Given the description of an element on the screen output the (x, y) to click on. 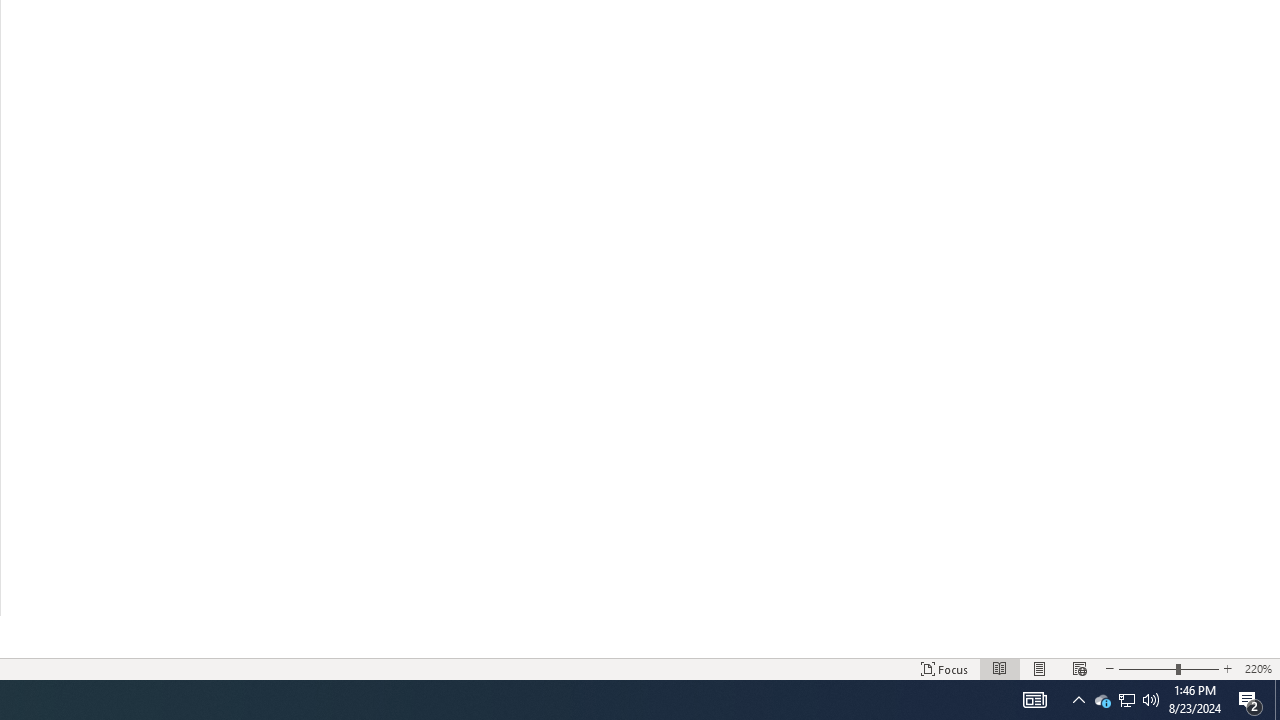
Increase Text Size (1227, 668)
Text Size (1168, 668)
Decrease Text Size (1109, 668)
